Given the description of an element on the screen output the (x, y) to click on. 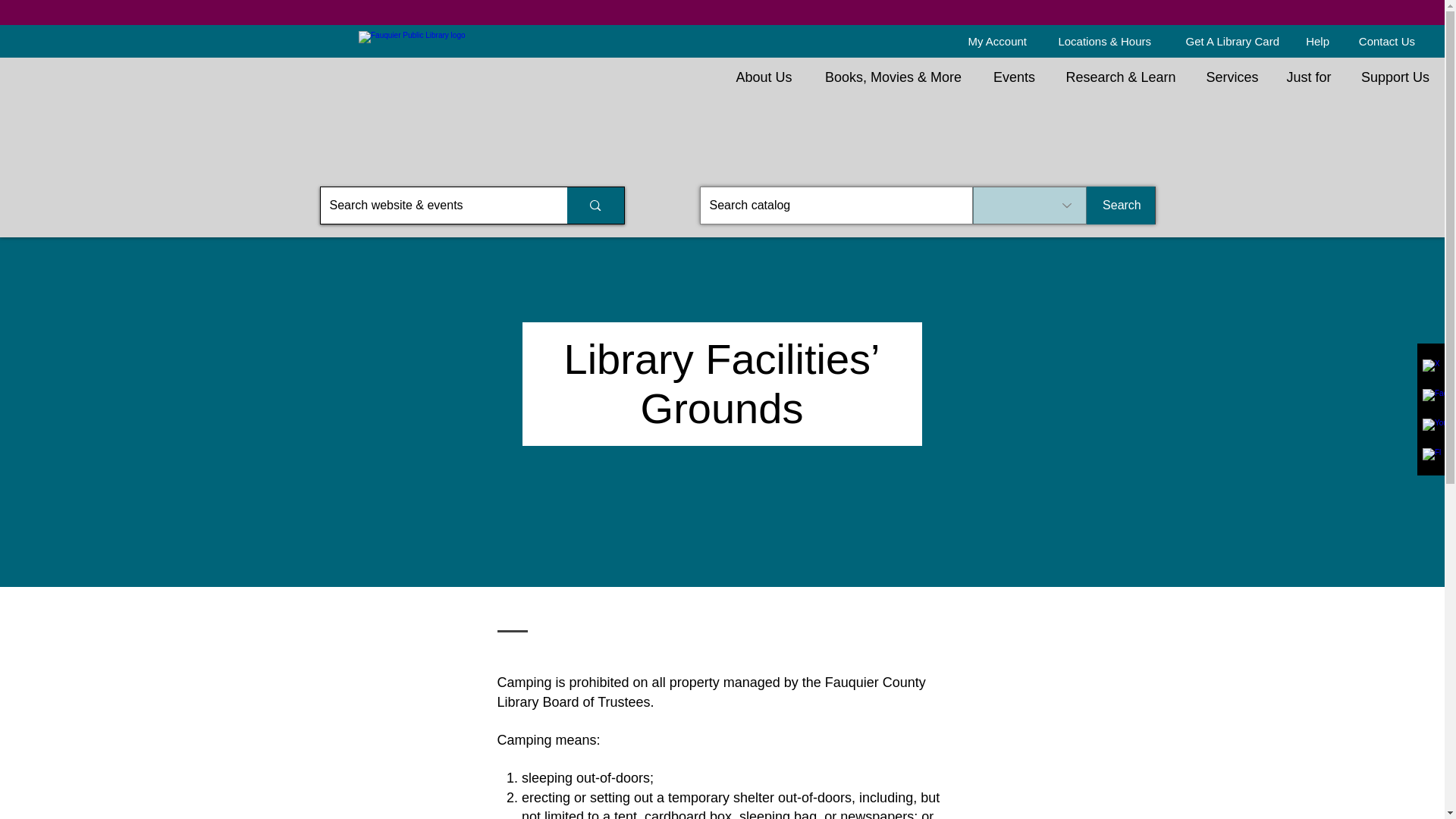
Events (1013, 77)
FPL-logotype-stacked-green.png (502, 41)
